Given the description of an element on the screen output the (x, y) to click on. 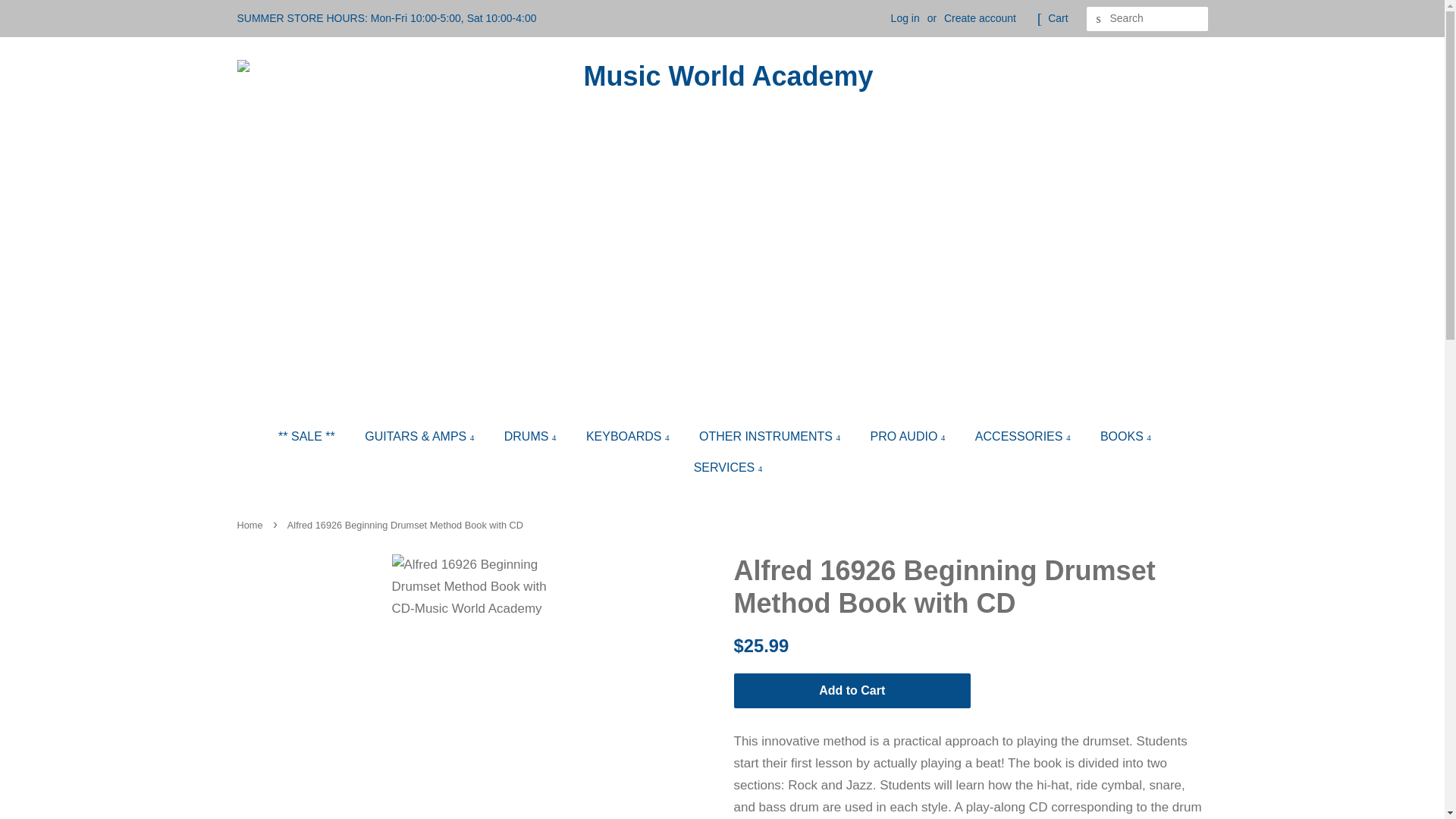
Cart (1057, 18)
Search (1097, 18)
Log in (905, 18)
Back to the frontpage (250, 524)
Create account (979, 18)
